Given the description of an element on the screen output the (x, y) to click on. 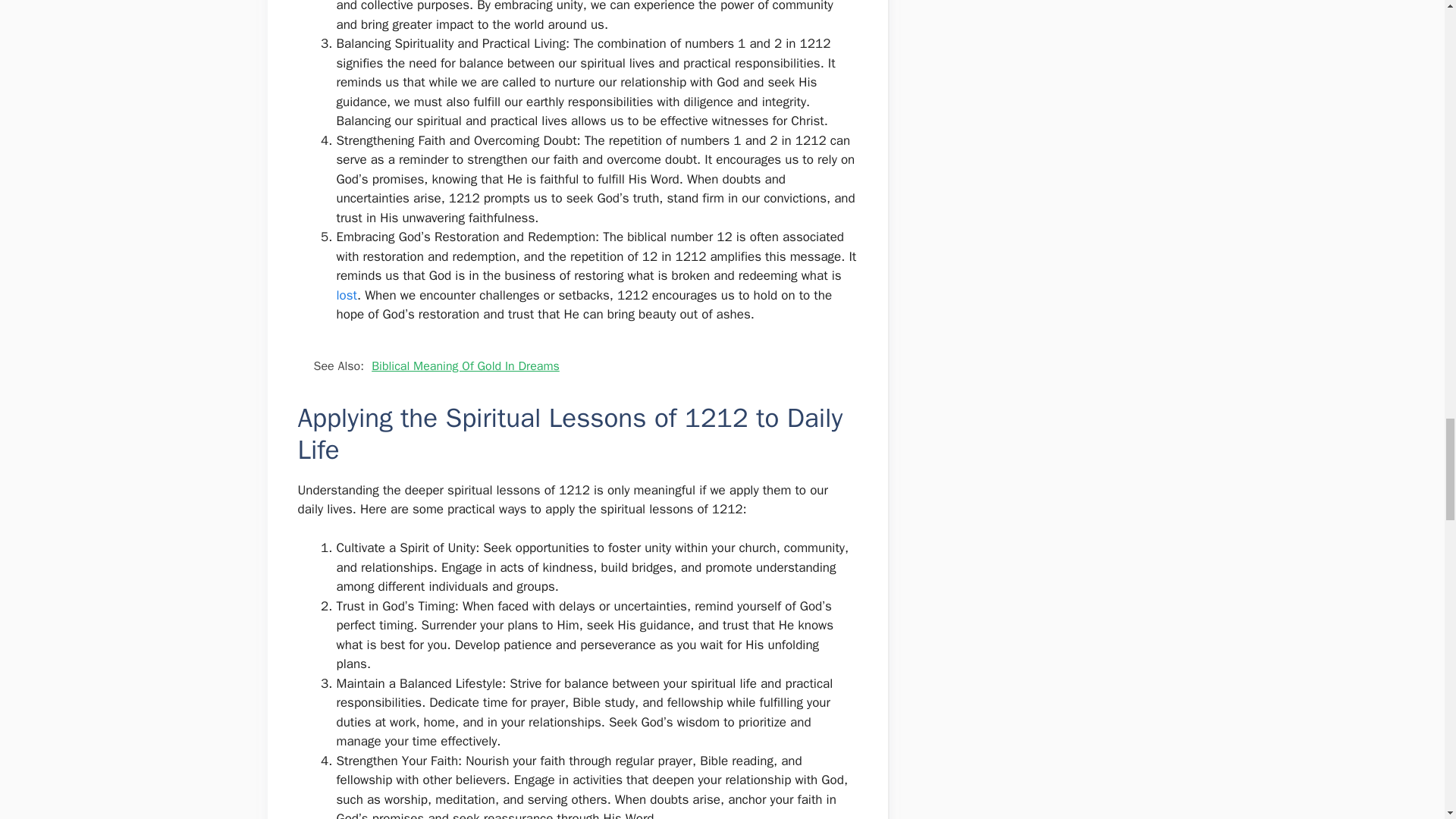
lost (347, 295)
lost (347, 295)
See Also:  Biblical Meaning Of Gold In Dreams (577, 366)
